Given the description of an element on the screen output the (x, y) to click on. 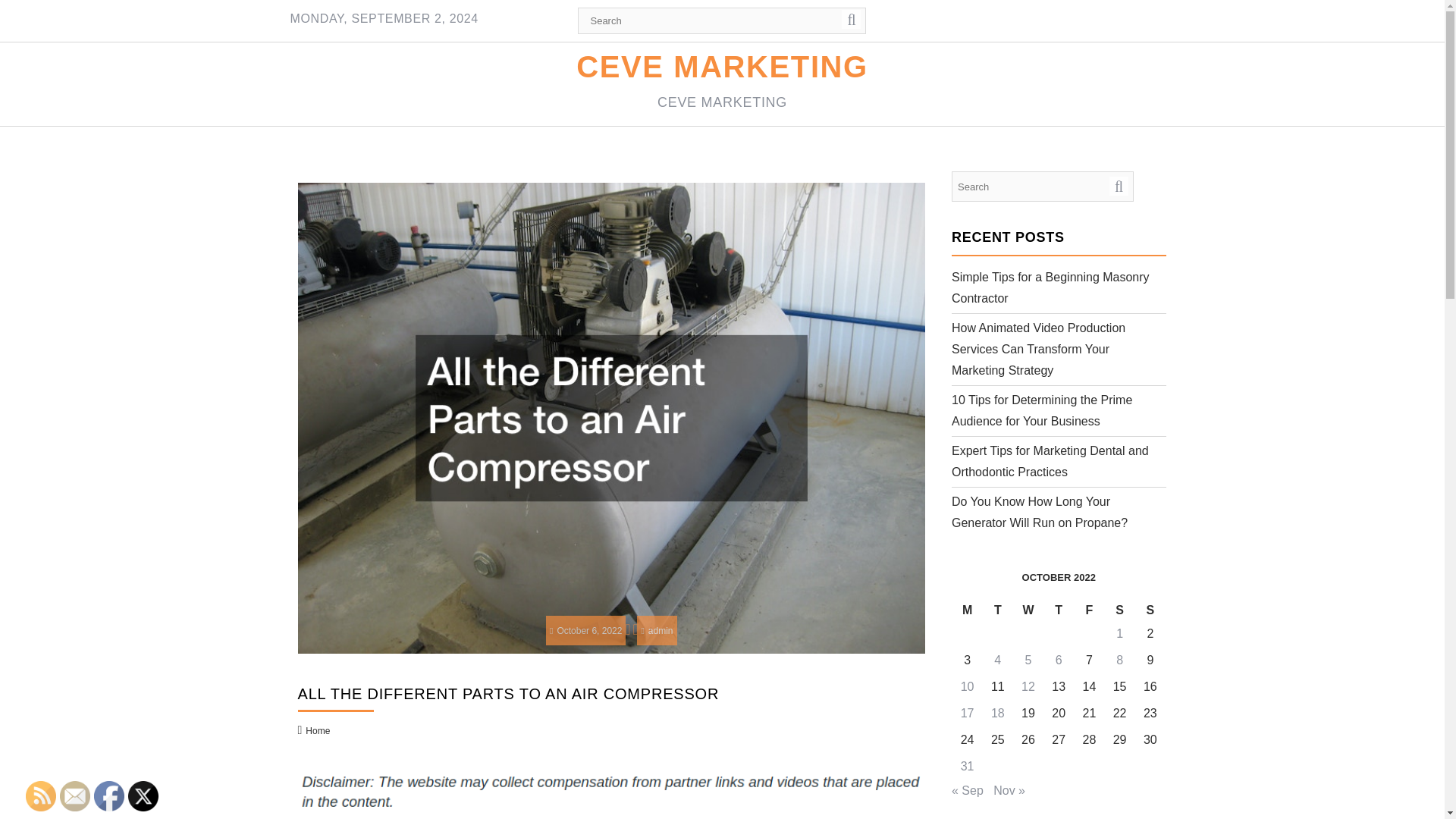
12 (1028, 686)
Saturday (1120, 610)
Follow by Email (74, 796)
Friday (1088, 610)
Simple Tips for a Beginning Masonry Contractor (1051, 287)
October 6, 2022 (585, 630)
Expert Tips for Marketing Dental and Orthodontic Practices (1050, 461)
10 (967, 686)
Monday (967, 610)
